Given the description of an element on the screen output the (x, y) to click on. 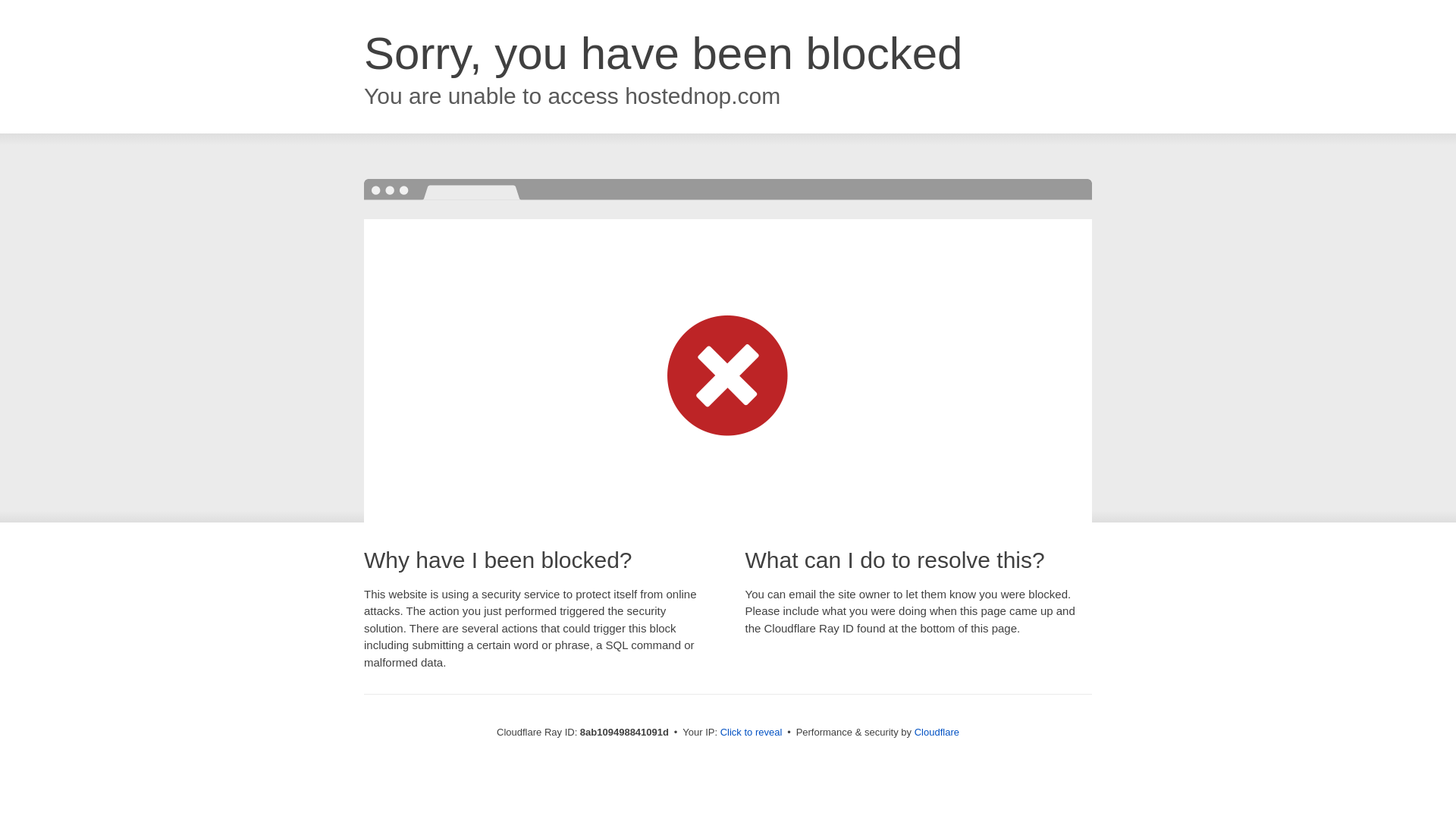
Cloudflare (936, 731)
Click to reveal (751, 732)
